Given the description of an element on the screen output the (x, y) to click on. 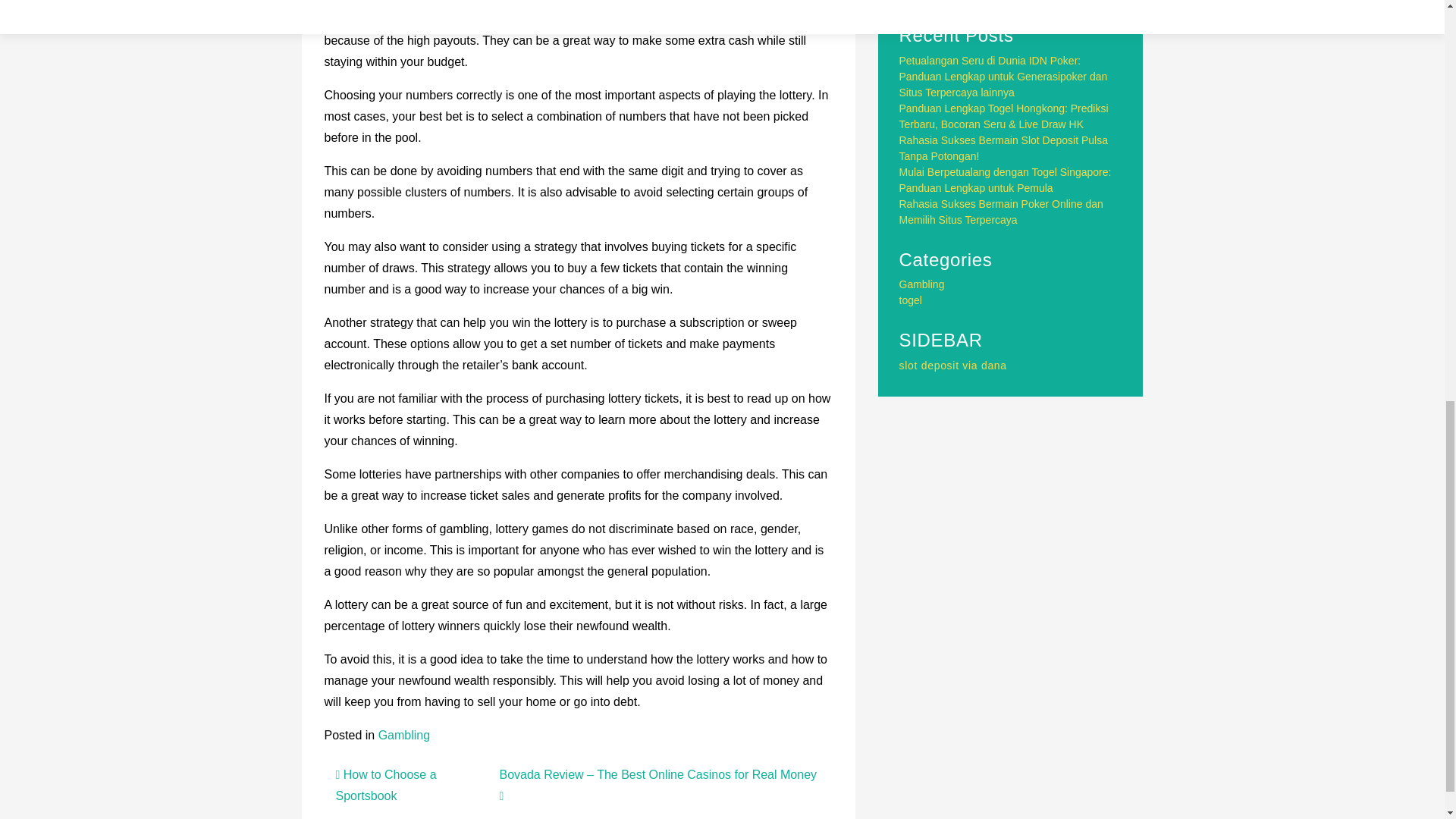
Gambling (403, 735)
Rahasia Sukses Bermain Slot Deposit Pulsa Tanpa Potongan! (1003, 148)
 How to Choose a Sportsbook (384, 785)
Gambling (921, 284)
June 2022 (924, 0)
